Given the description of an element on the screen output the (x, y) to click on. 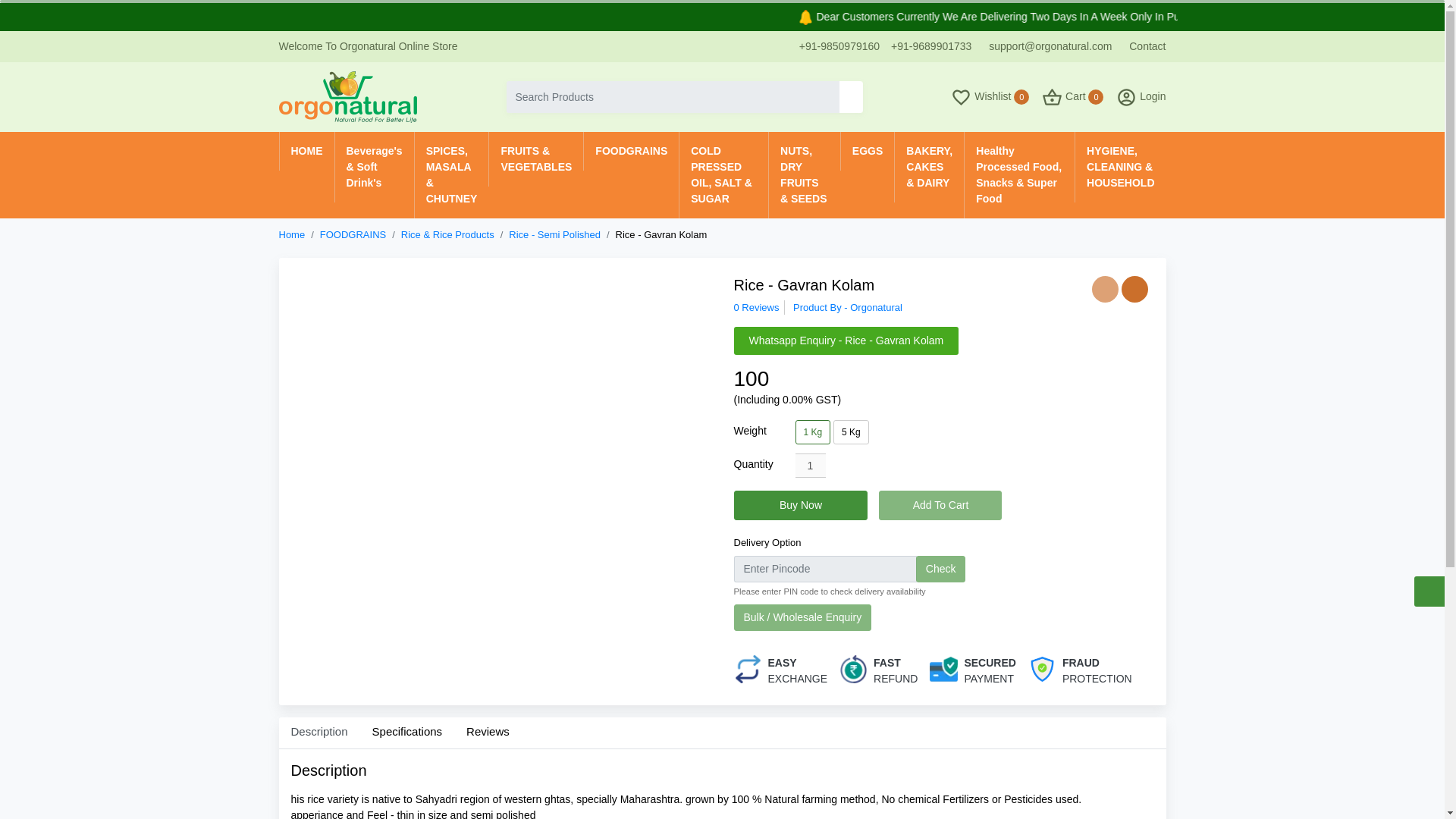
Cart 0 (1067, 96)
Login (1136, 96)
Wishlist 0 (984, 96)
FOODGRAINS (630, 150)
Compare (1134, 289)
Wishlist (1105, 289)
HOME (306, 150)
Contact (1140, 45)
